Given the description of an element on the screen output the (x, y) to click on. 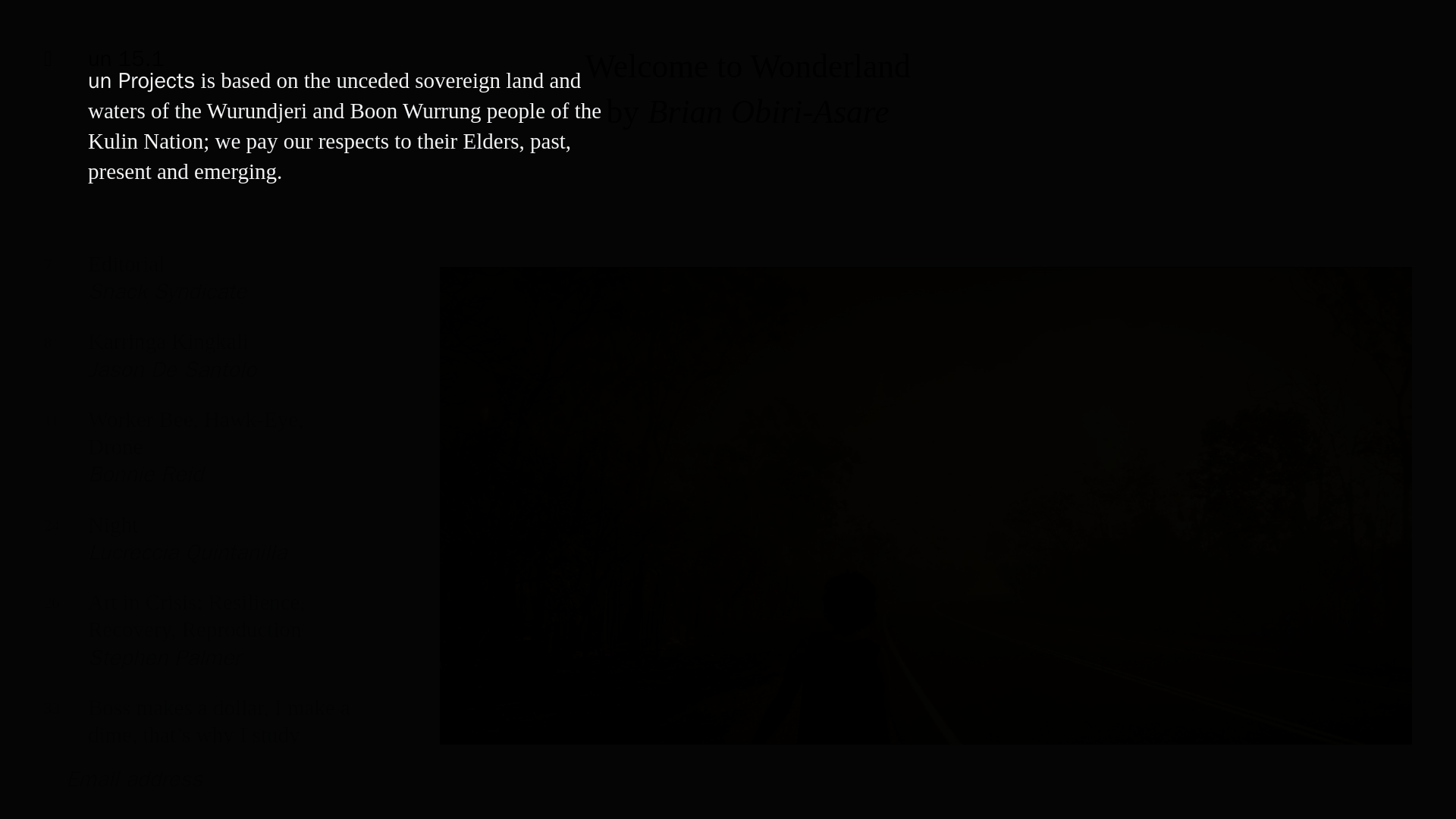
Posts by Brian Obiri-Asare (197, 549)
Brian Obiri-Asare (197, 366)
